Given the description of an element on the screen output the (x, y) to click on. 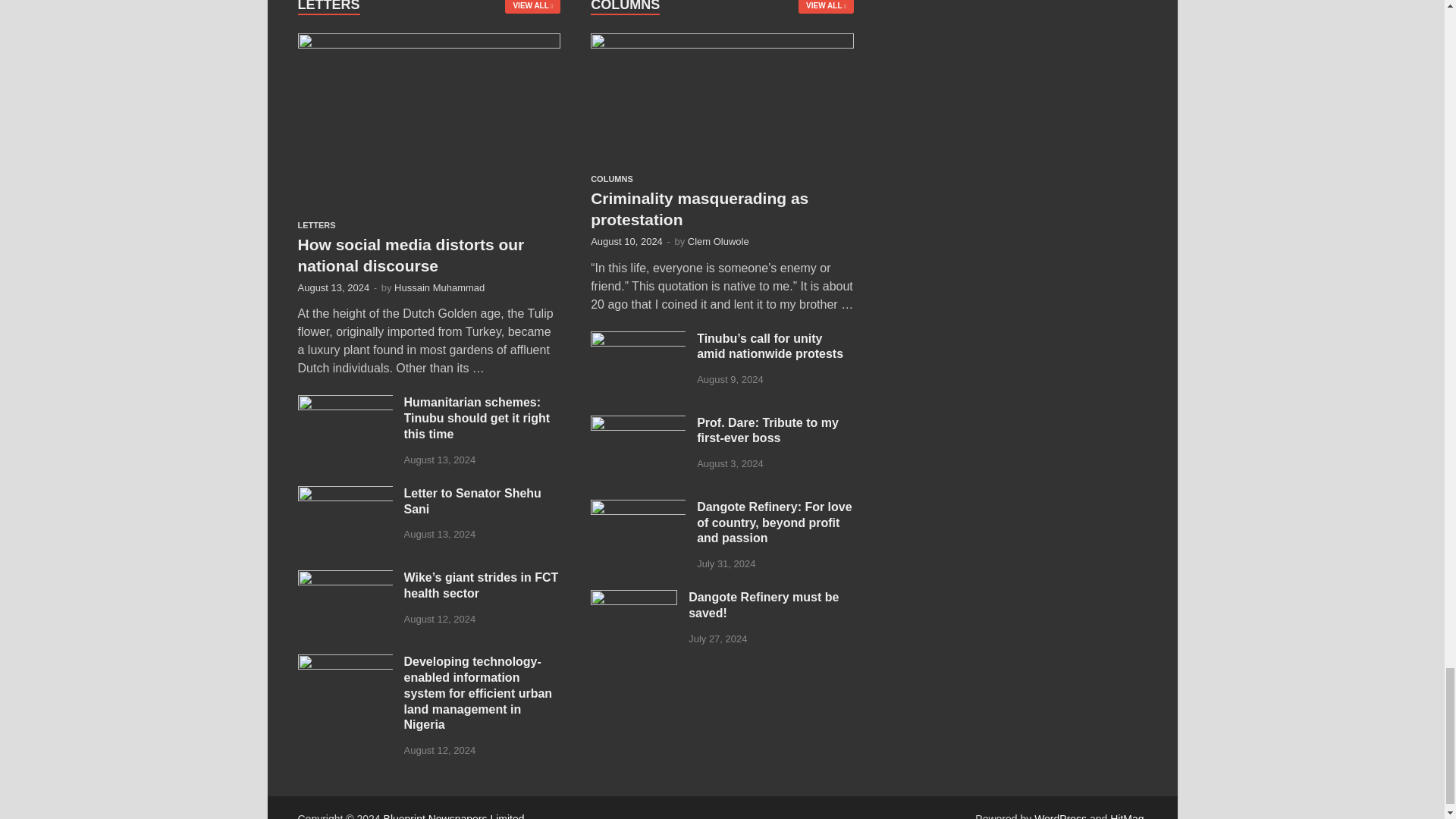
How social media distorts our national discourse (428, 42)
Letter to Senator Shehu Sani (344, 494)
Humanitarian schemes: Tinubu should get it right this time (344, 403)
Criminality masquerading as protestation (722, 42)
